Given the description of an element on the screen output the (x, y) to click on. 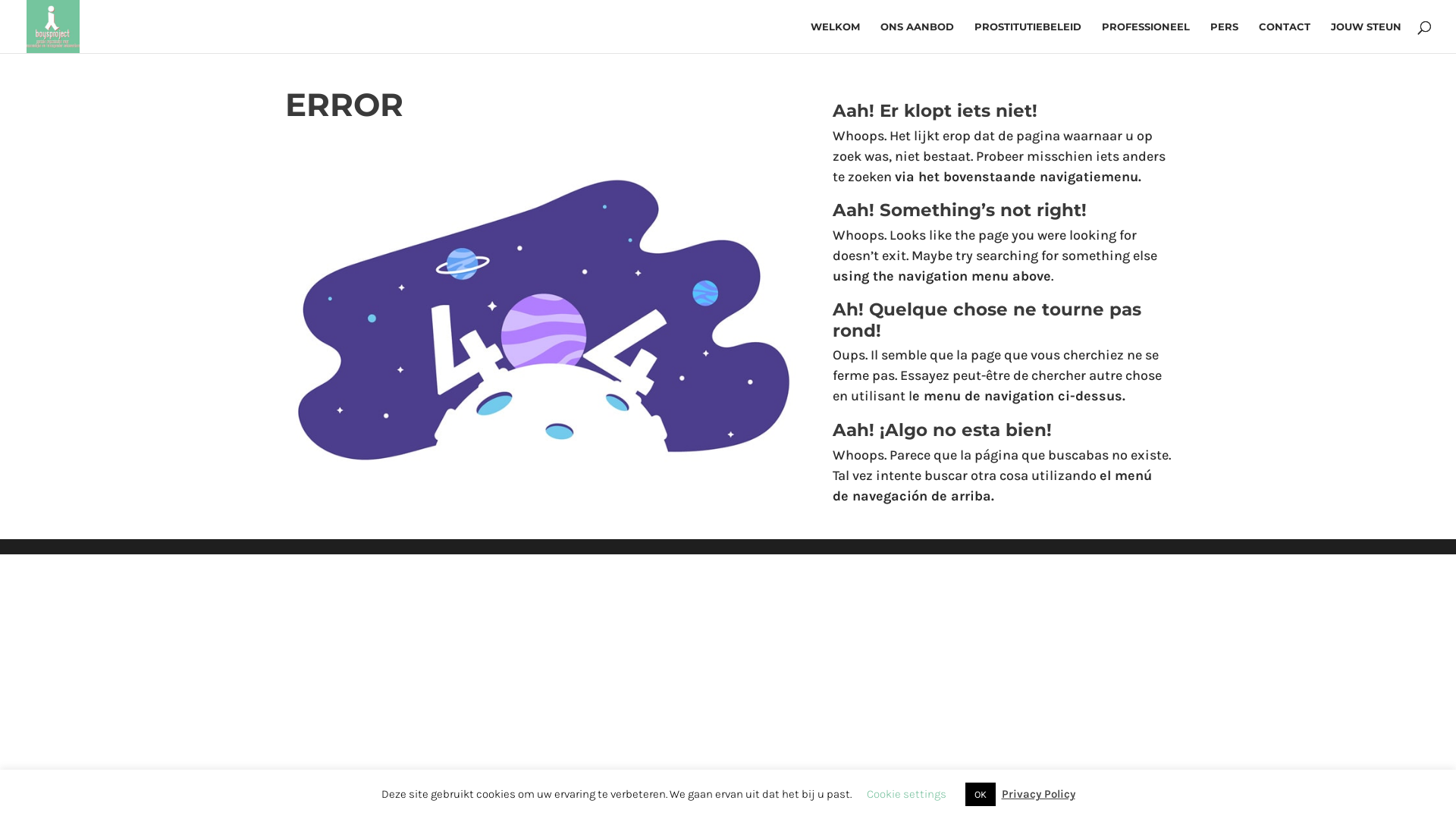
Cookie settings Element type: text (905, 793)
OK Element type: text (979, 794)
JOUW STEUN Element type: text (1365, 37)
WELKOM Element type: text (834, 37)
PROSTITUTIEBELEID Element type: text (1027, 37)
PERS Element type: text (1224, 37)
PROFESSIONEEL Element type: text (1145, 37)
404 Element type: hover (545, 306)
CONTACT Element type: text (1284, 37)
ONS AANBOD Element type: text (916, 37)
Privacy Policy Element type: text (1037, 793)
